Given the description of an element on the screen output the (x, y) to click on. 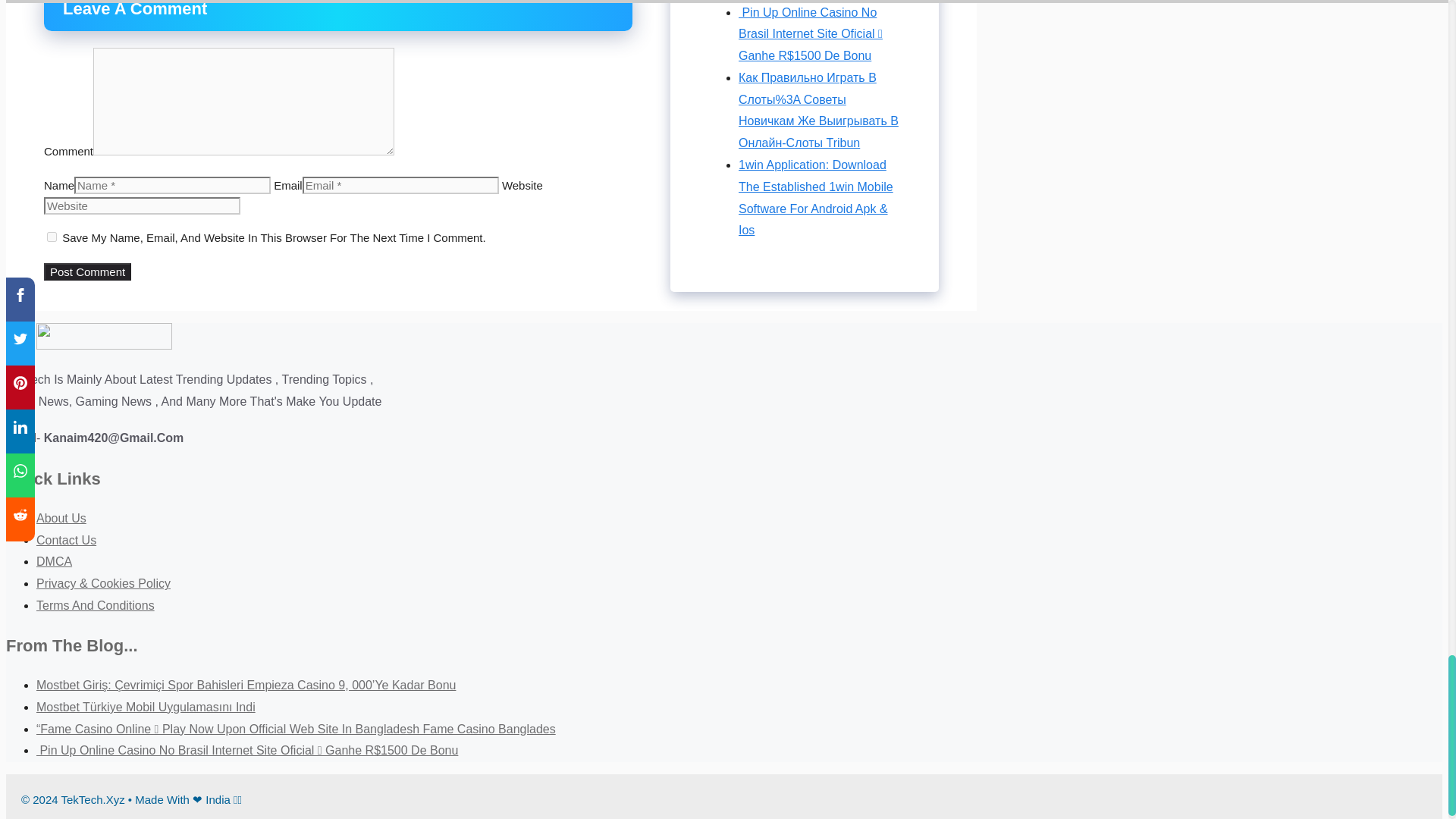
yes (51, 236)
Post Comment (87, 271)
Post Comment (87, 271)
